Given the description of an element on the screen output the (x, y) to click on. 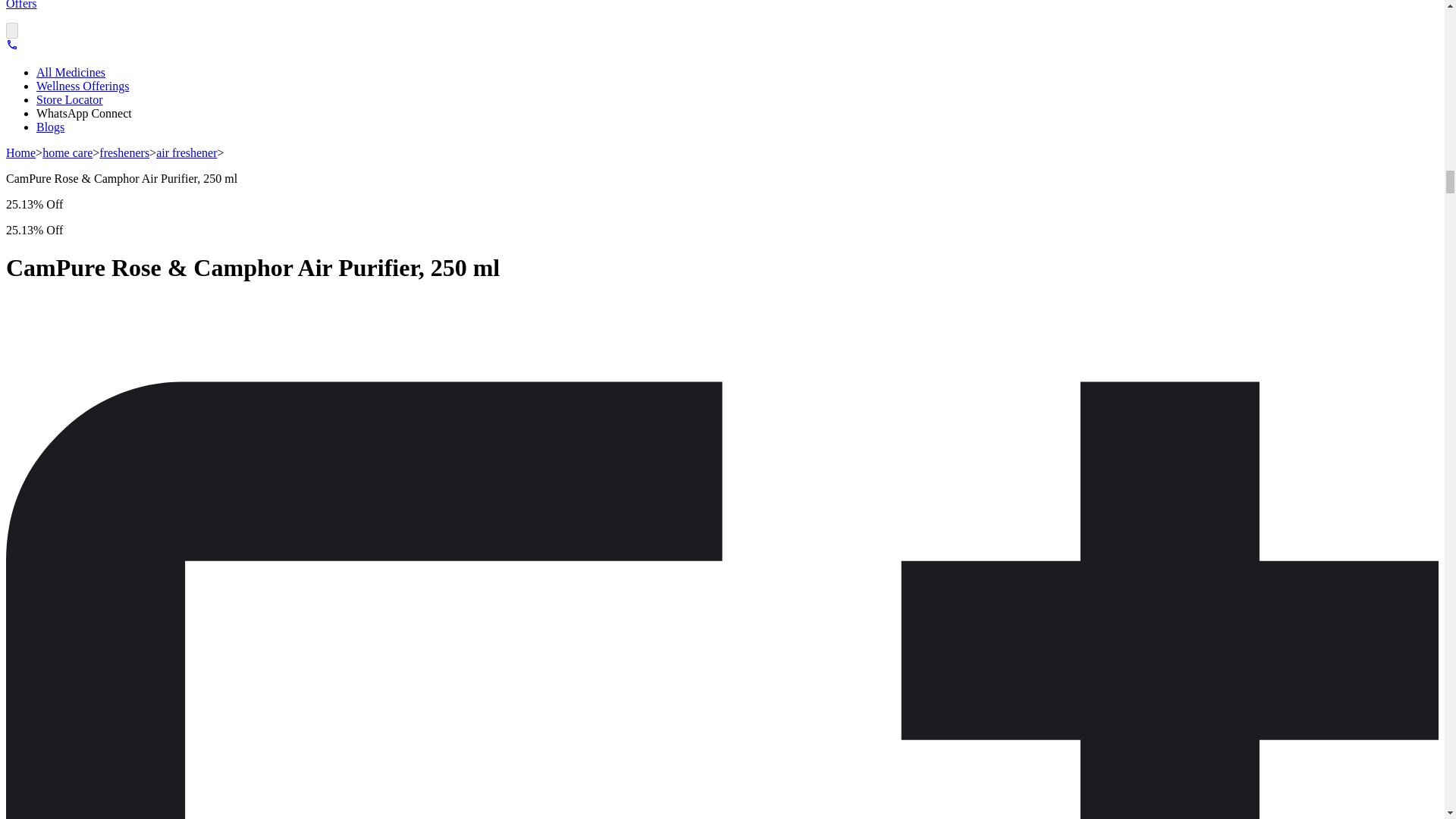
Home (19, 152)
fresheners (124, 152)
air freshener (185, 152)
home care (67, 152)
